Given the description of an element on the screen output the (x, y) to click on. 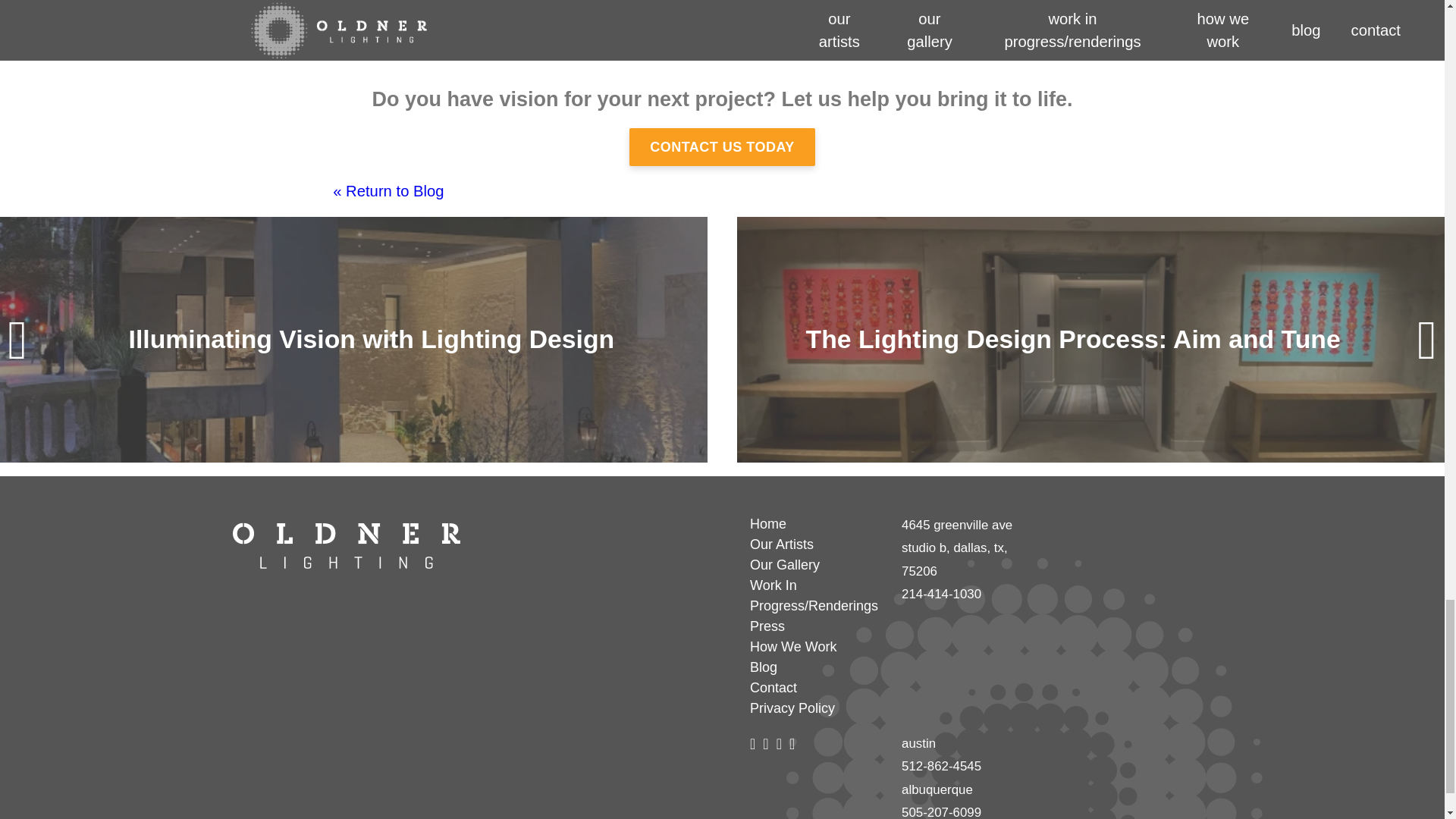
Home (815, 524)
Our Gallery (815, 565)
How We Work (815, 647)
Contact (815, 688)
Press (815, 626)
Our Artists (815, 544)
CONTACT US TODAY (721, 146)
Blog (815, 667)
CONTACT US TODAY (721, 146)
Privacy Policy (815, 708)
